Given the description of an element on the screen output the (x, y) to click on. 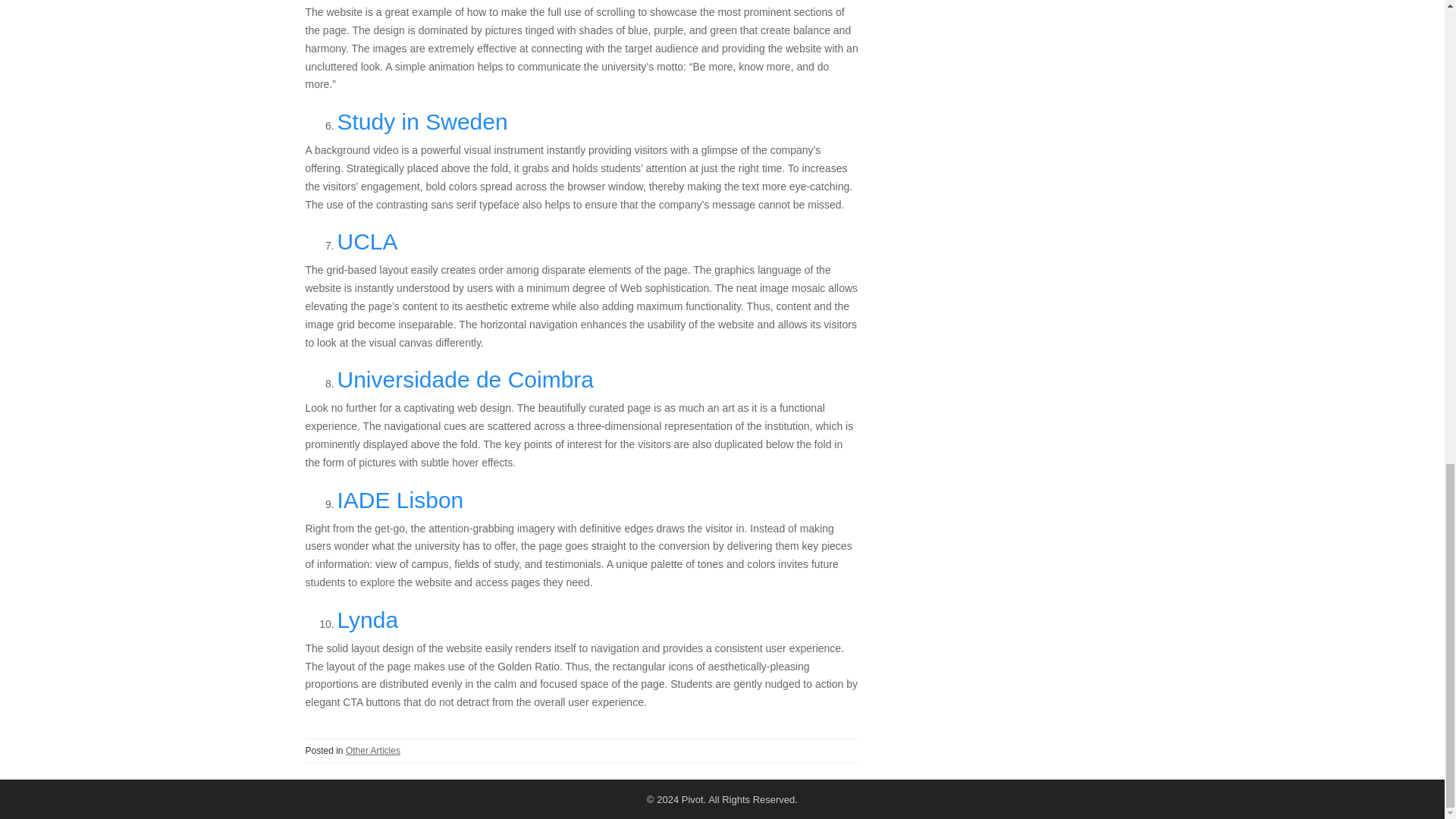
Other Articles (373, 750)
UCLA (366, 241)
Universidade de Coimbra (465, 379)
IADE Lisbon (399, 499)
Study in Sweden (421, 121)
Lynda (366, 619)
